Given the description of an element on the screen output the (x, y) to click on. 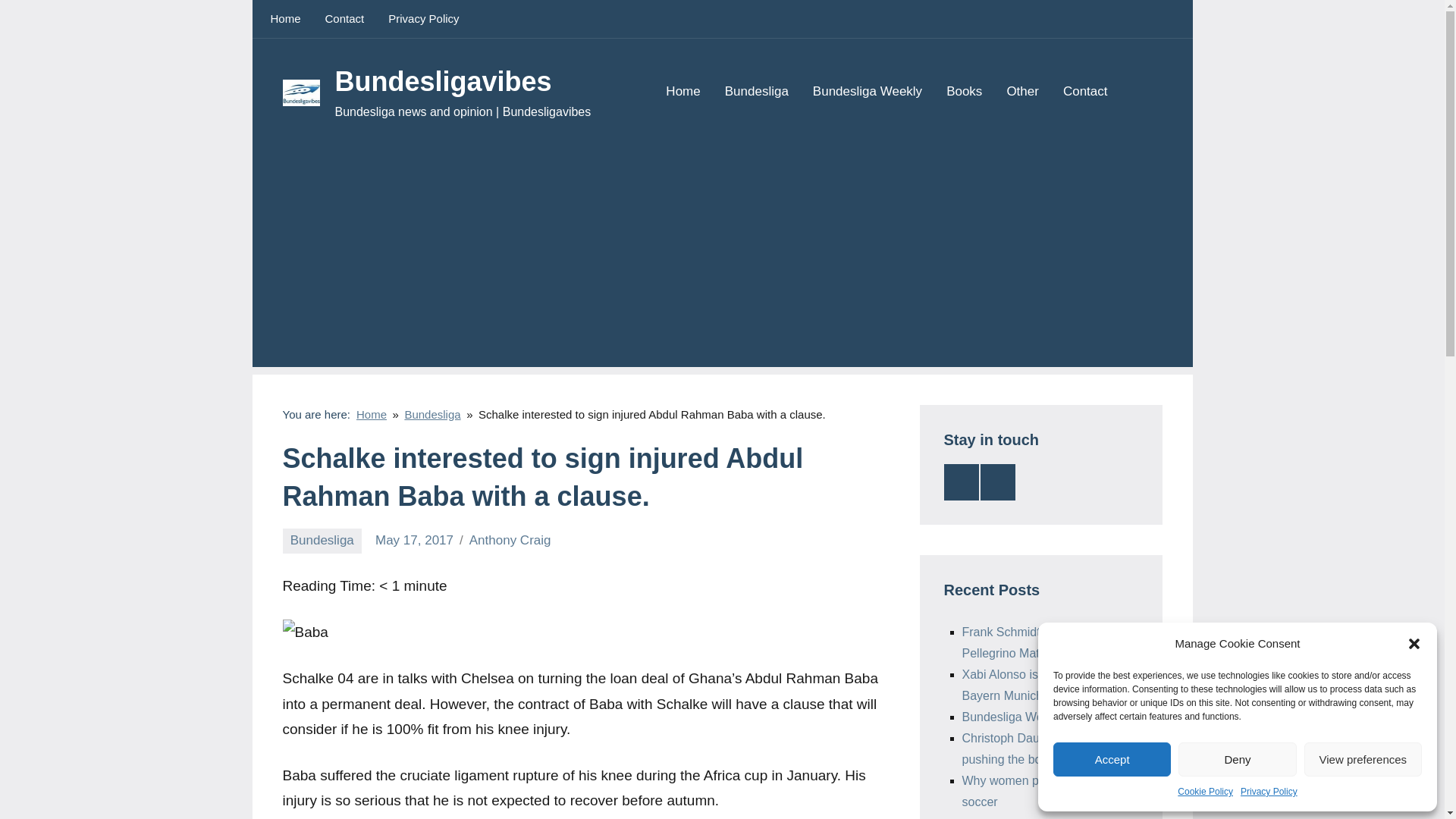
Privacy Policy (1268, 791)
May 17, 2017 (413, 540)
Contact (1085, 92)
Contact (345, 18)
Anthony Craig (509, 540)
Bundesliga Weekly (866, 92)
Cookie Policy (1205, 791)
Accept (1111, 759)
Home (371, 413)
Home (285, 18)
Bundesligavibes (442, 81)
View preferences (1363, 759)
Home (682, 92)
View all posts by Anthony Craig (509, 540)
Books (963, 92)
